Given the description of an element on the screen output the (x, y) to click on. 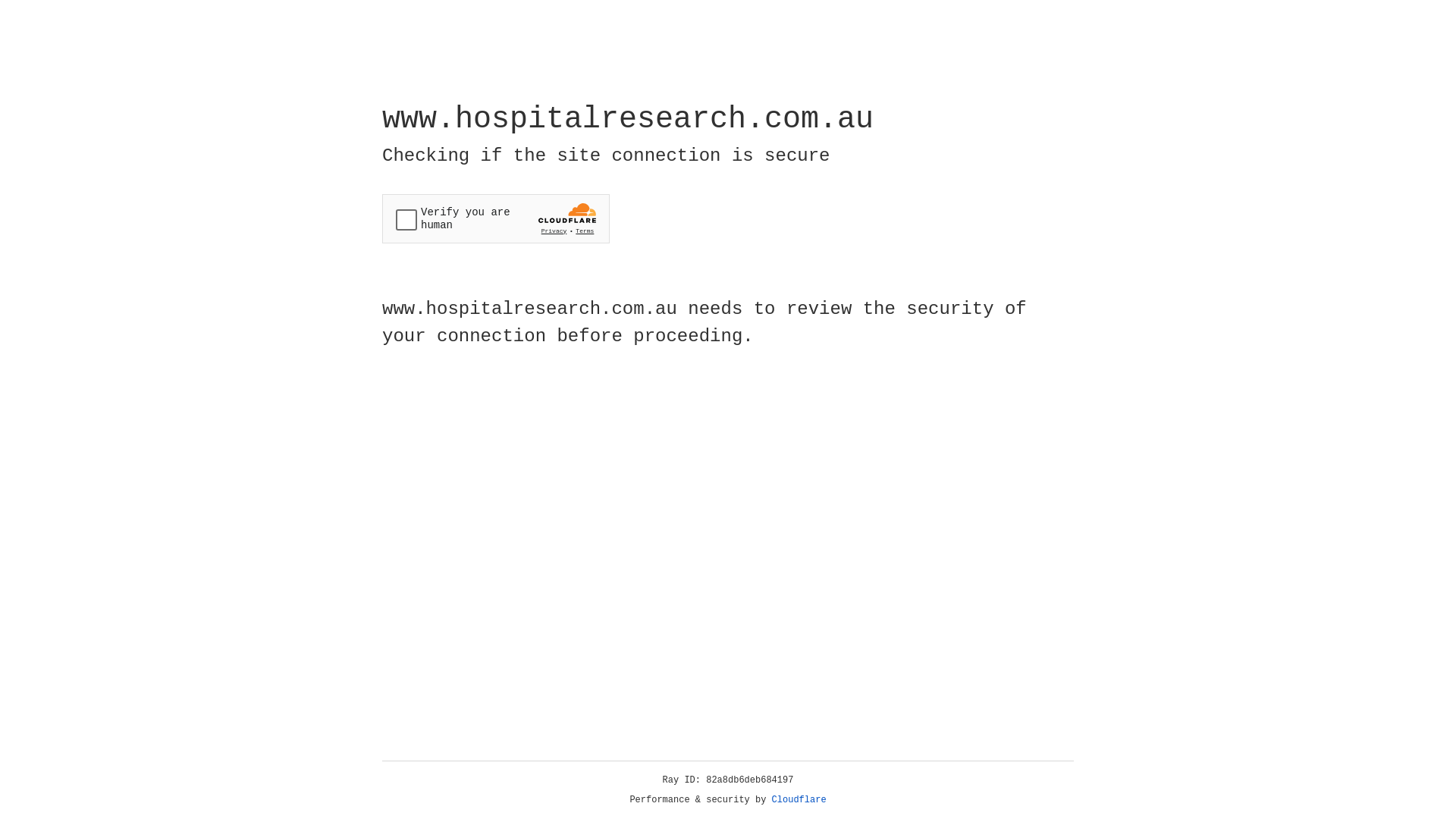
Widget containing a Cloudflare security challenge Element type: hover (495, 218)
Cloudflare Element type: text (798, 799)
